Given the description of an element on the screen output the (x, y) to click on. 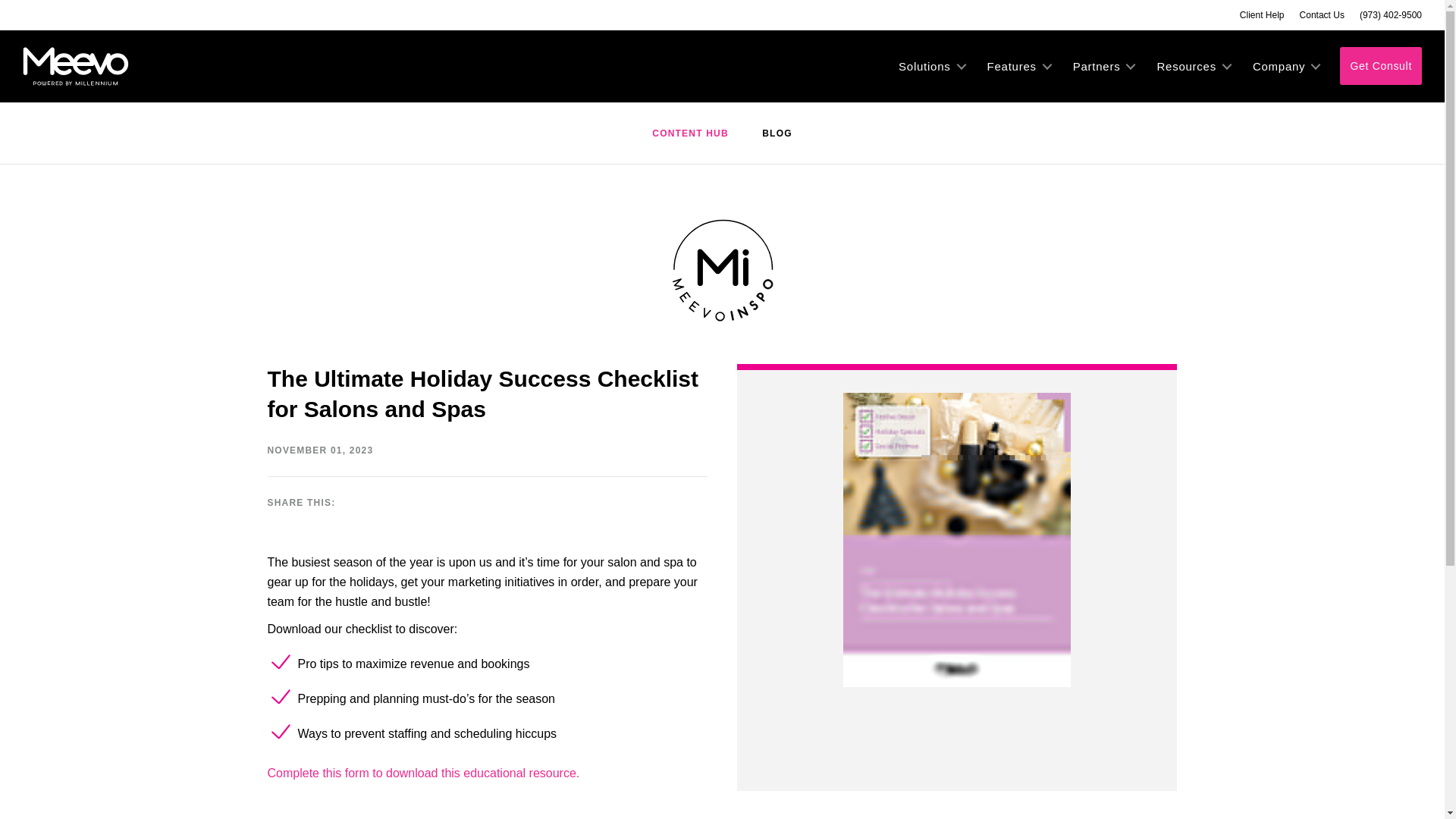
Features (1018, 66)
Client Help (1262, 14)
Solutions (931, 66)
Contact Us (1321, 14)
Partners (1103, 66)
